Given the description of an element on the screen output the (x, y) to click on. 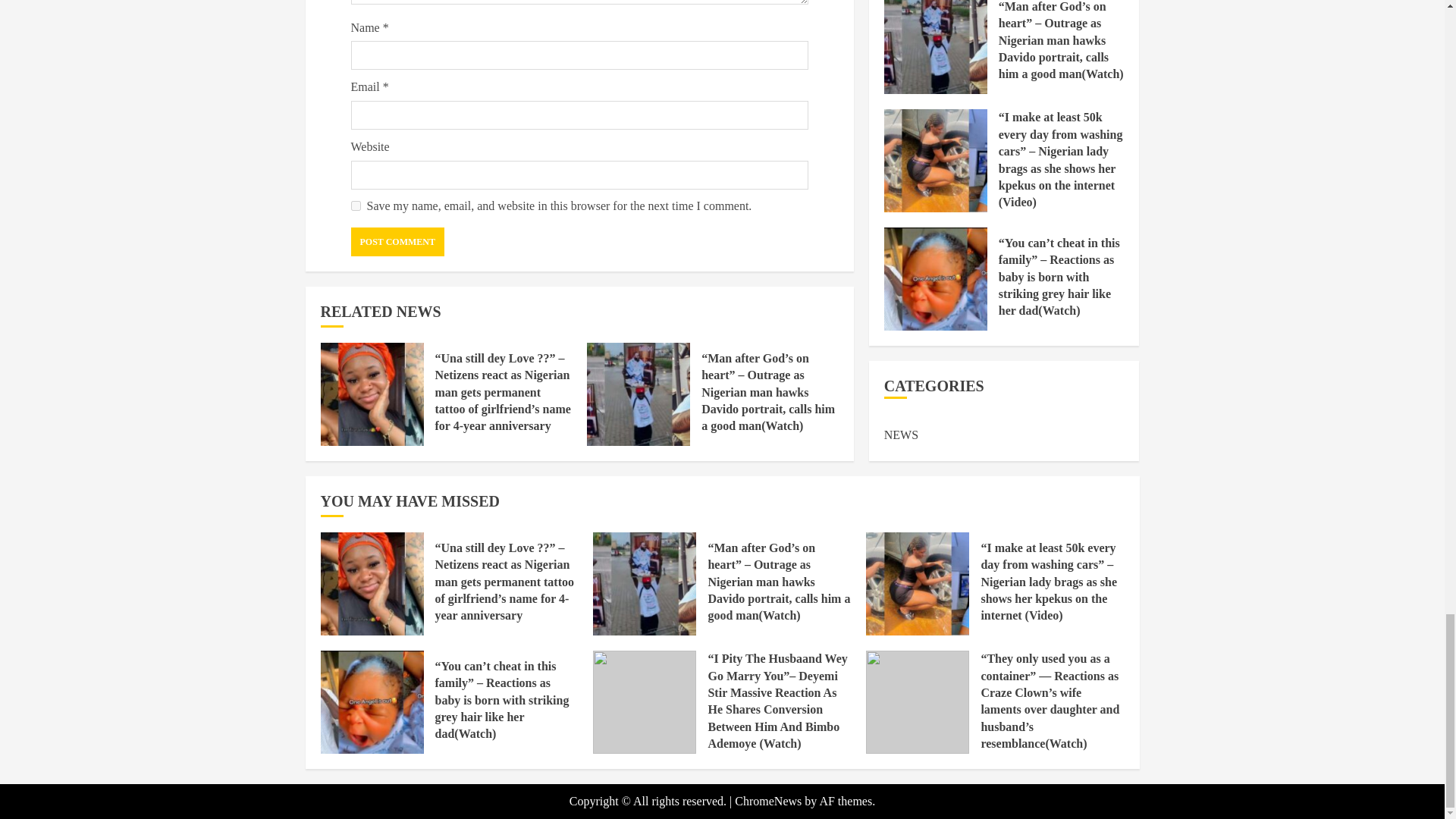
Post Comment (397, 241)
yes (354, 205)
Post Comment (397, 241)
